Given the description of an element on the screen output the (x, y) to click on. 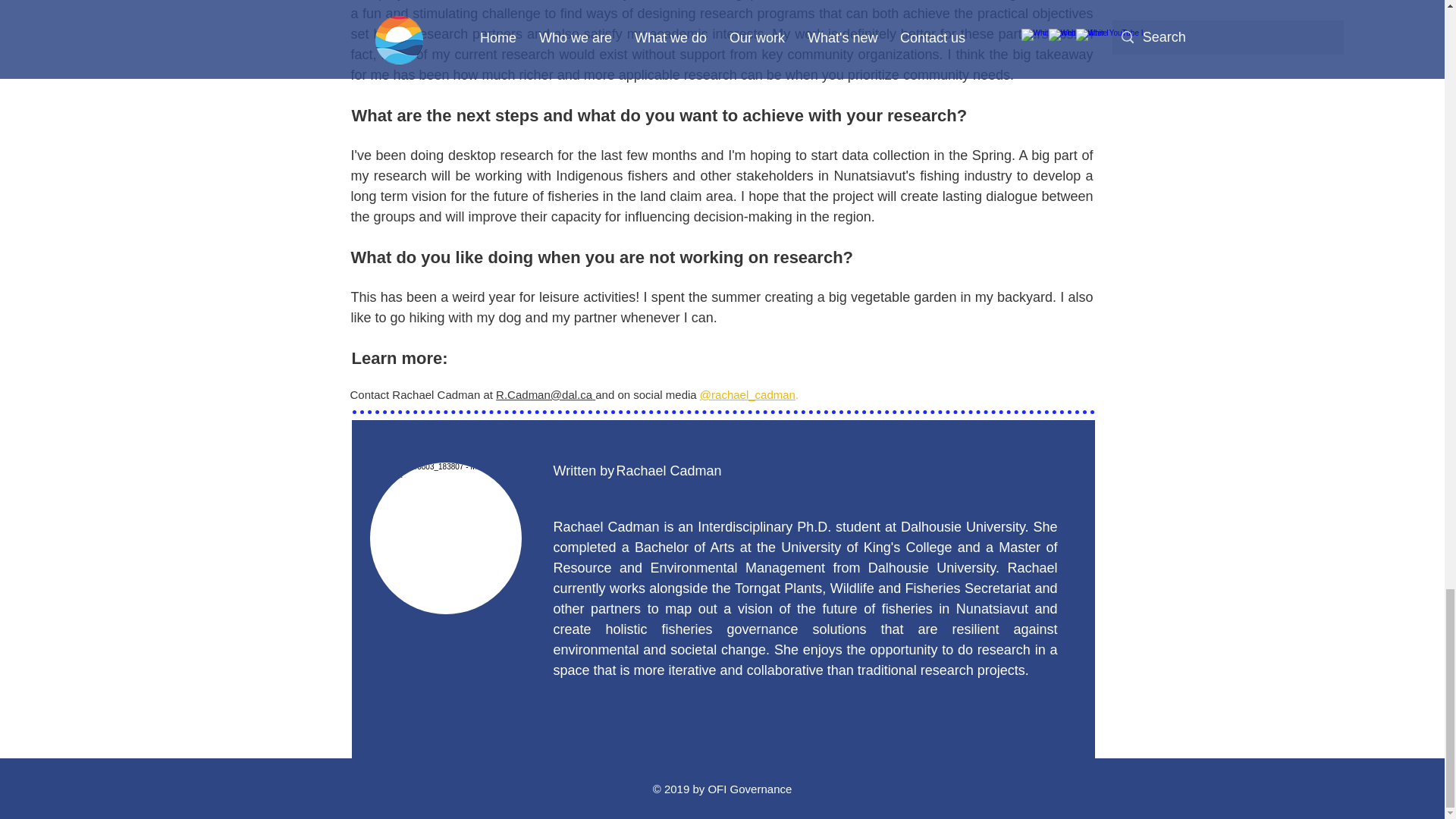
RCadmand in Nain.jpeg (445, 538)
